Given the description of an element on the screen output the (x, y) to click on. 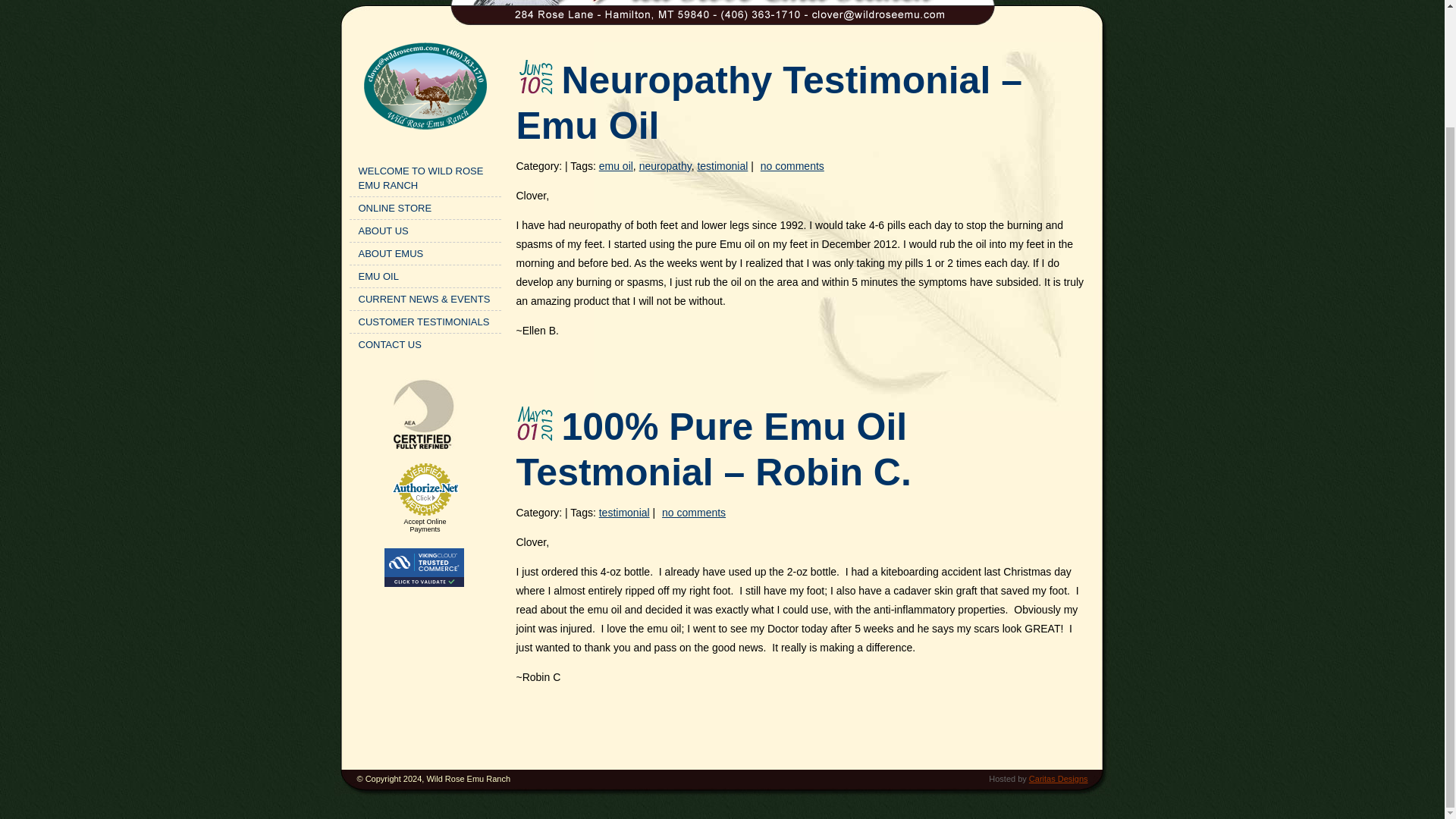
CONTACT US (424, 344)
ABOUT EMUS (424, 253)
Caritas Designs (1058, 777)
CUSTOMER TESTIMONIALS (424, 321)
Accept Online Payments (424, 525)
EMU OIL (424, 276)
testimonial (623, 512)
Caritas Designs (1058, 777)
ONLINE STORE (424, 208)
neuropathy (665, 165)
ABOUT US (424, 230)
no comments (693, 512)
WELCOME TO WILD ROSE EMU RANCH (424, 177)
emu oil (615, 165)
